Given the description of an element on the screen output the (x, y) to click on. 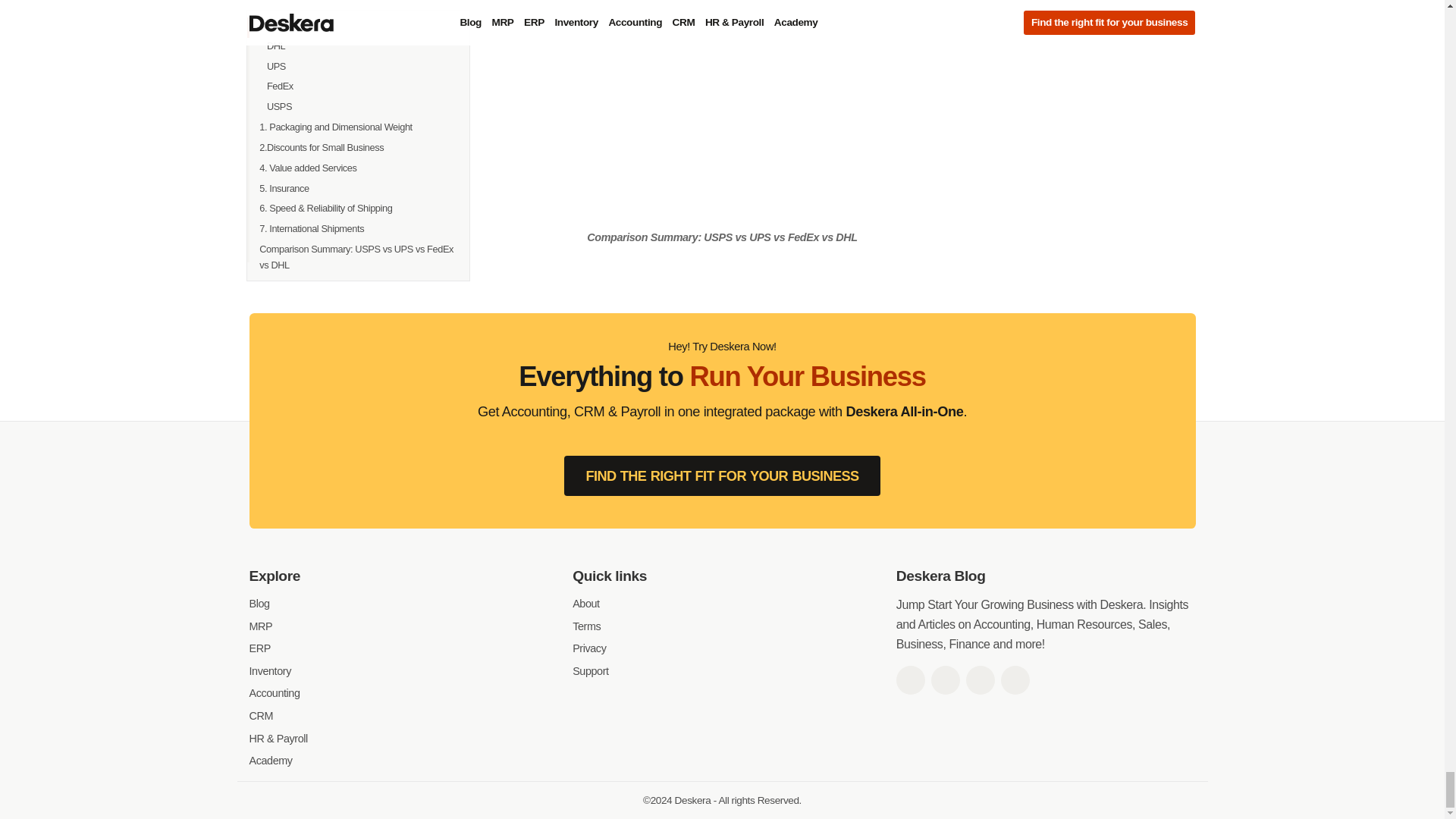
Twitter (945, 679)
Deskera Linkedin (980, 679)
Facebook (910, 679)
Deskera YouTube (1015, 679)
